Given the description of an element on the screen output the (x, y) to click on. 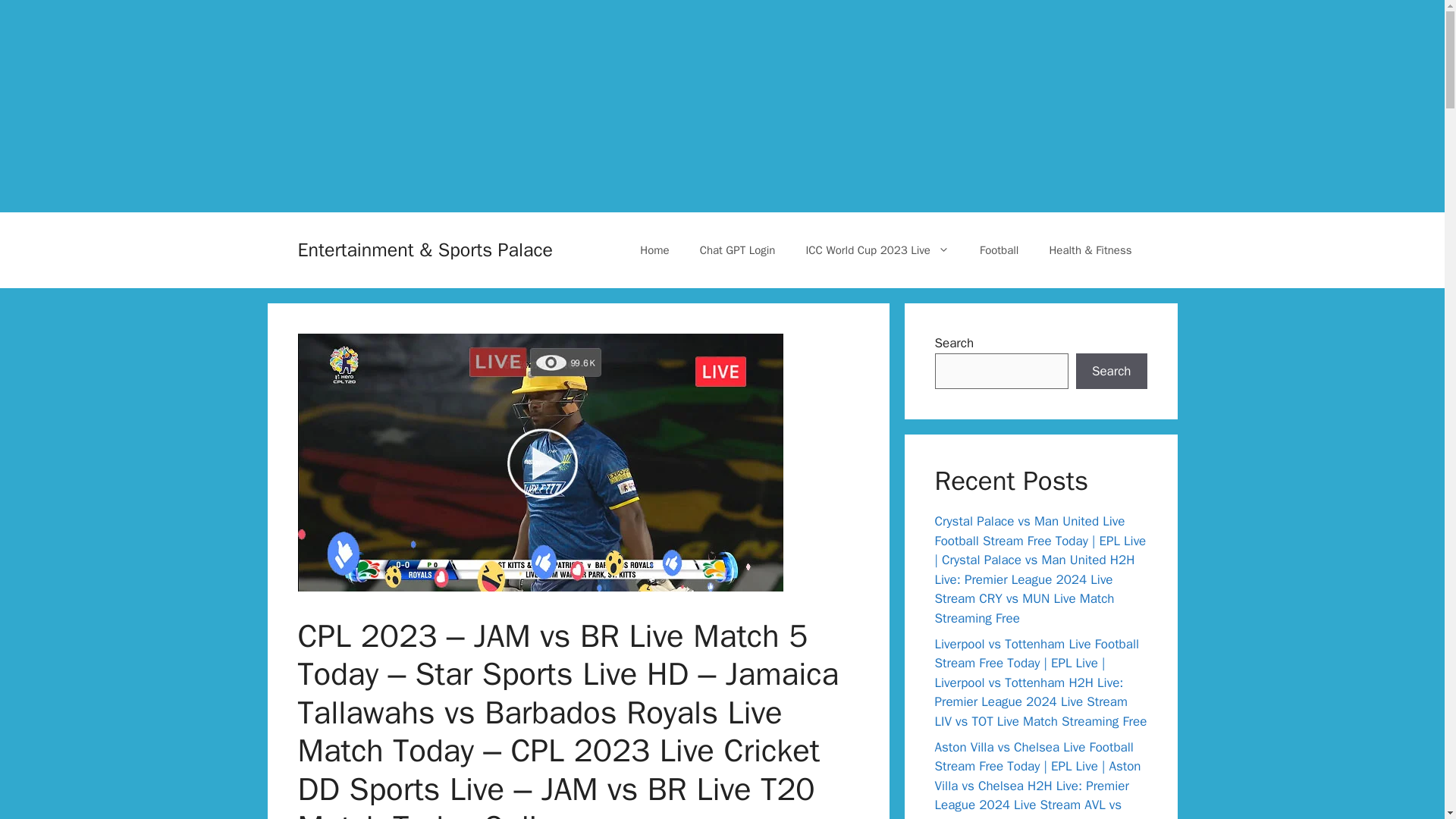
Home (654, 249)
Football (998, 249)
Search (1111, 370)
ICC World Cup 2023 Live (876, 249)
Chat GPT Login (737, 249)
